Given the description of an element on the screen output the (x, y) to click on. 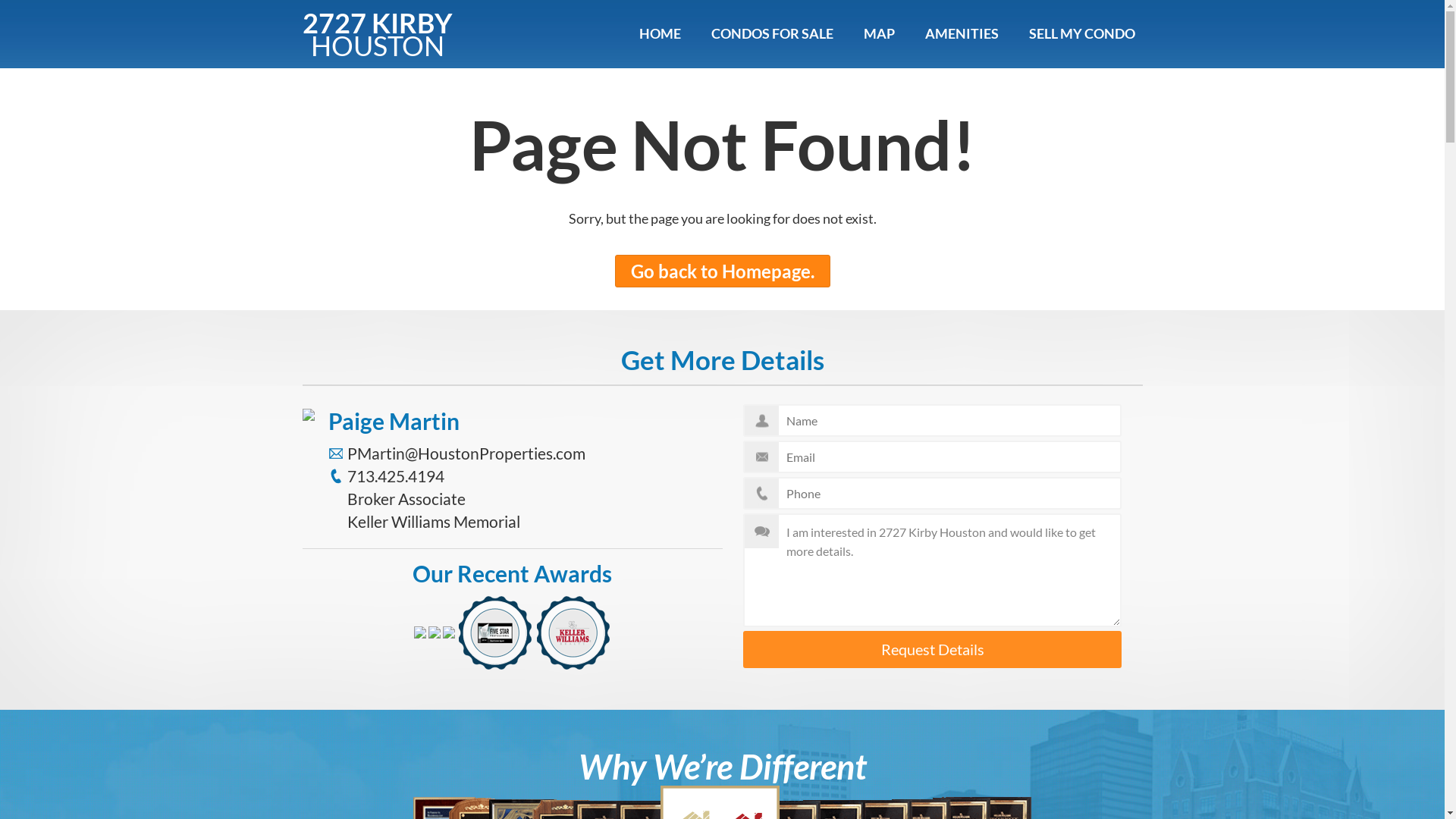
CONDOS FOR SALE Element type: text (771, 33)
MAP Element type: text (878, 33)
SELL MY CONDO Element type: text (1081, 33)
Go back to Homepage. Element type: text (721, 270)
HOME Element type: text (658, 33)
2727 KIRBY
HOUSTON Element type: text (376, 31)
PMartin@HoustonProperties.com Element type: text (466, 452)
AMENITIES Element type: text (961, 33)
Request Details Element type: text (932, 649)
713.425.4194 Element type: text (395, 475)
